Given the description of an element on the screen output the (x, y) to click on. 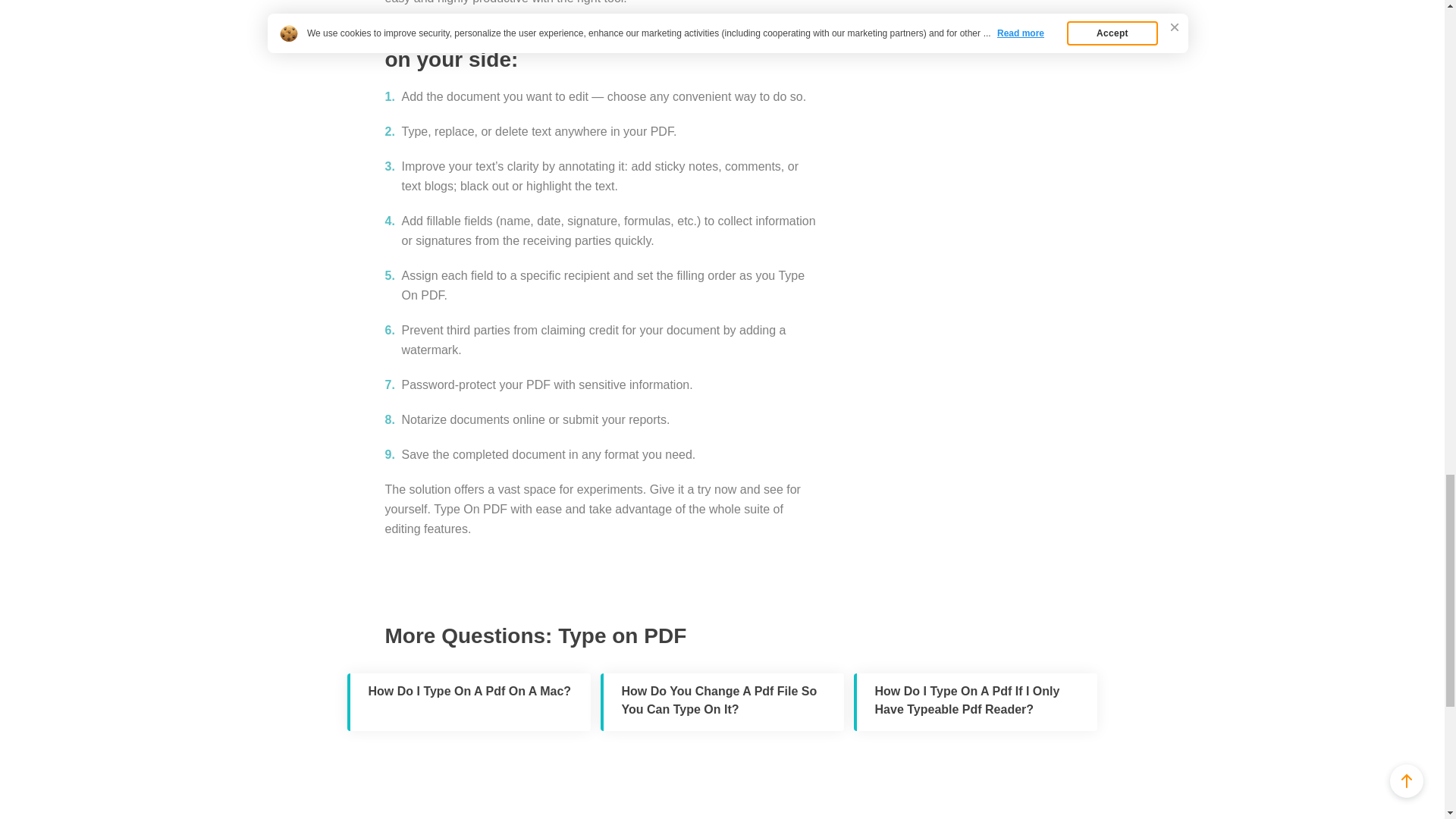
How Do I Type On A Pdf If I Only Have Typeable Pdf Reader? (975, 702)
How Do You Change A Pdf File So You Can Type On It? (721, 702)
How Do I Type On A Pdf On A Mac? (469, 702)
